Given the description of an element on the screen output the (x, y) to click on. 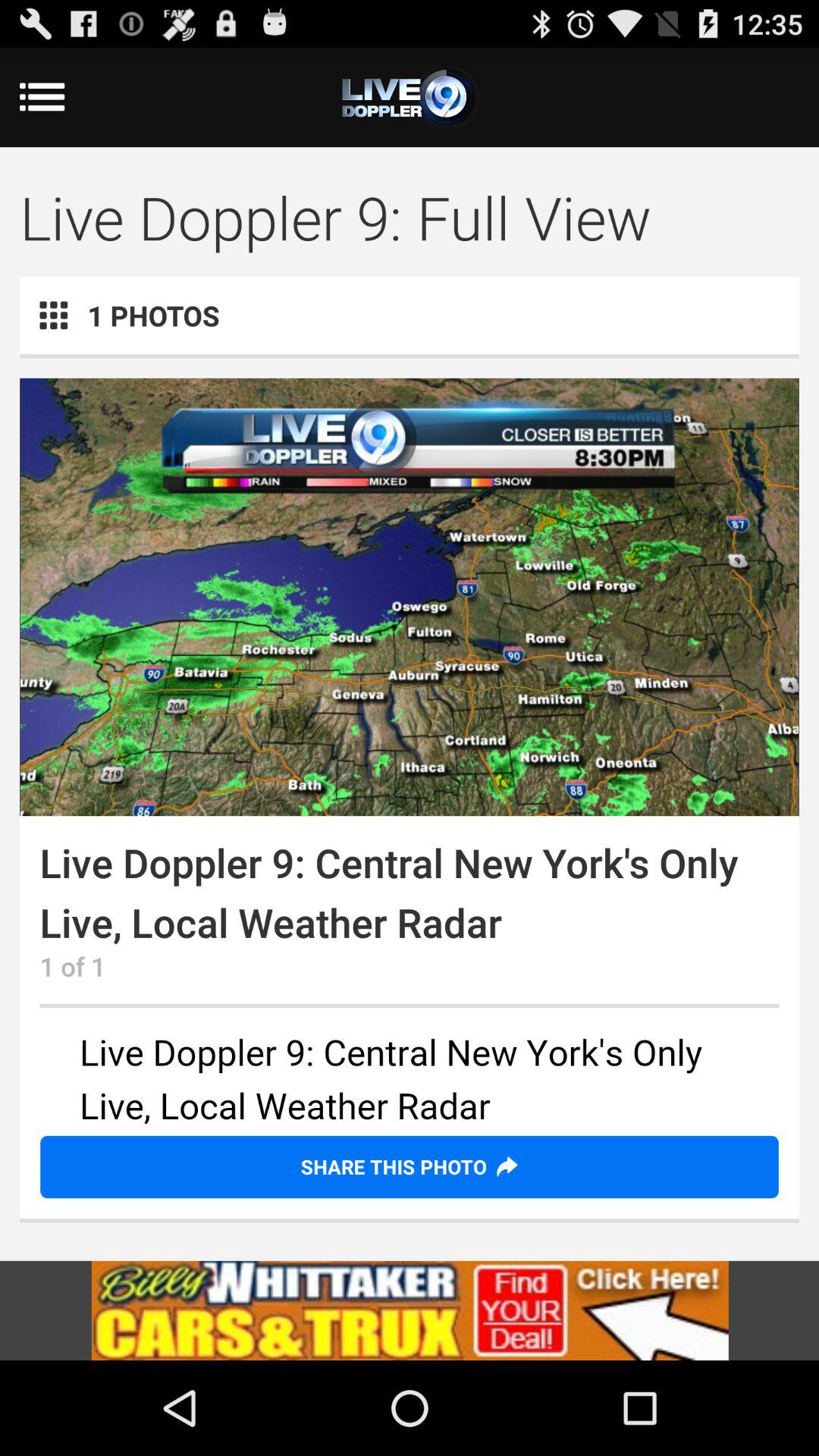
change text (409, 1081)
